Given the description of an element on the screen output the (x, y) to click on. 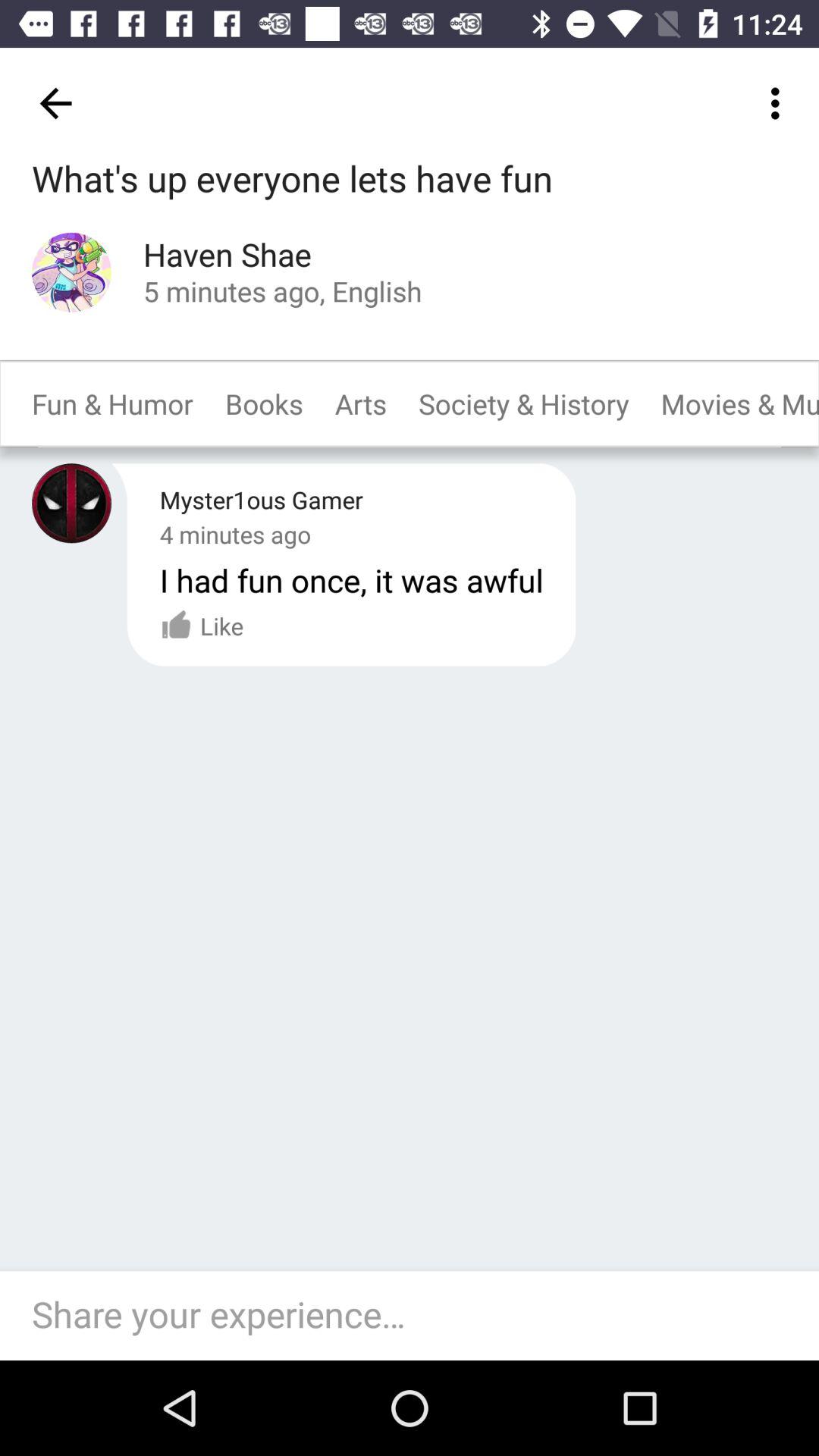
select item below the 4 minutes ago icon (201, 626)
